Given the description of an element on the screen output the (x, y) to click on. 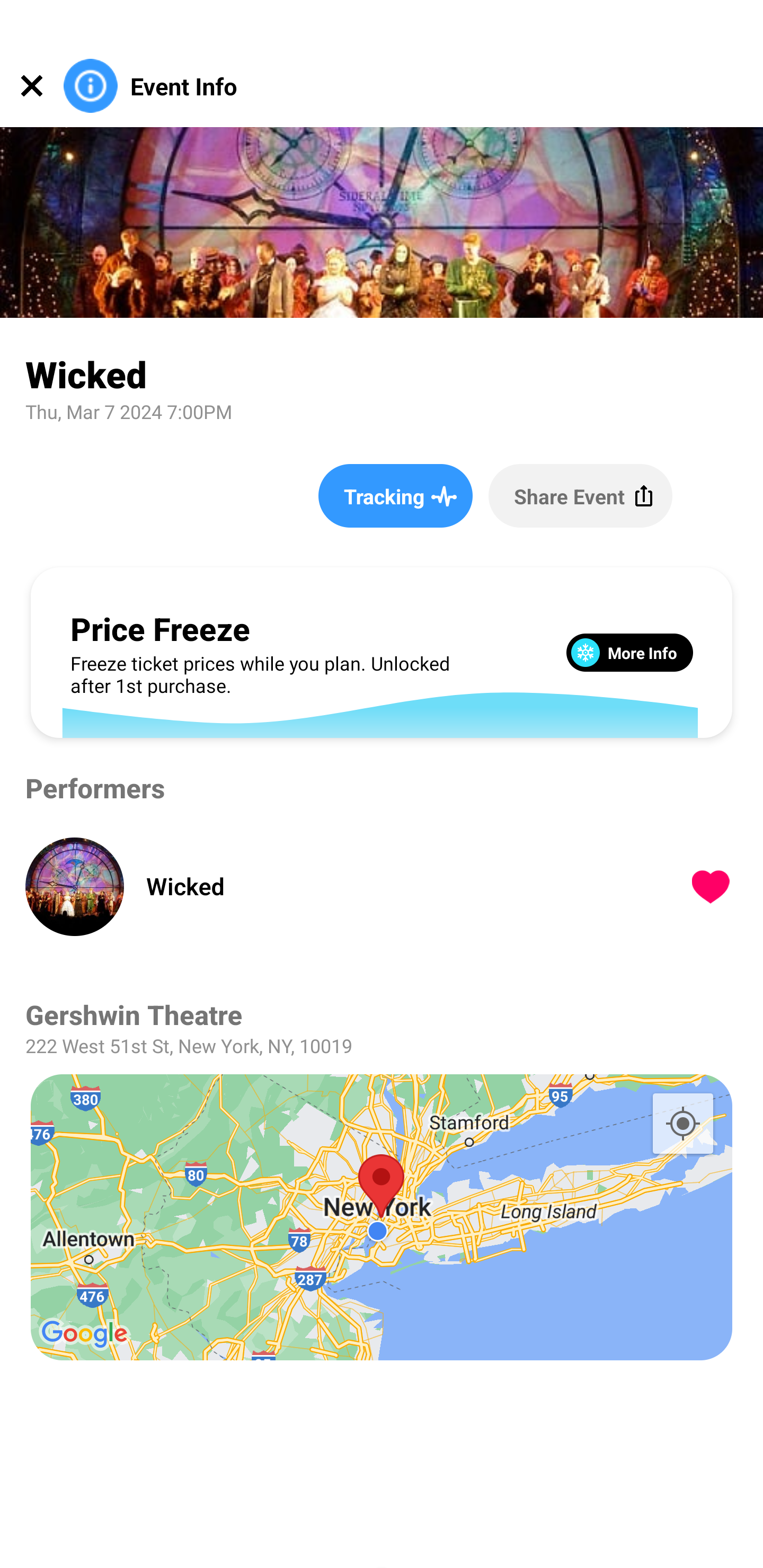
Tracking (395, 495)
Share Event (580, 495)
More Info (629, 652)
Wicked (394, 886)
Google Map Gershwin Theatre My Location (381, 1217)
My Location (682, 1123)
